Given the description of an element on the screen output the (x, y) to click on. 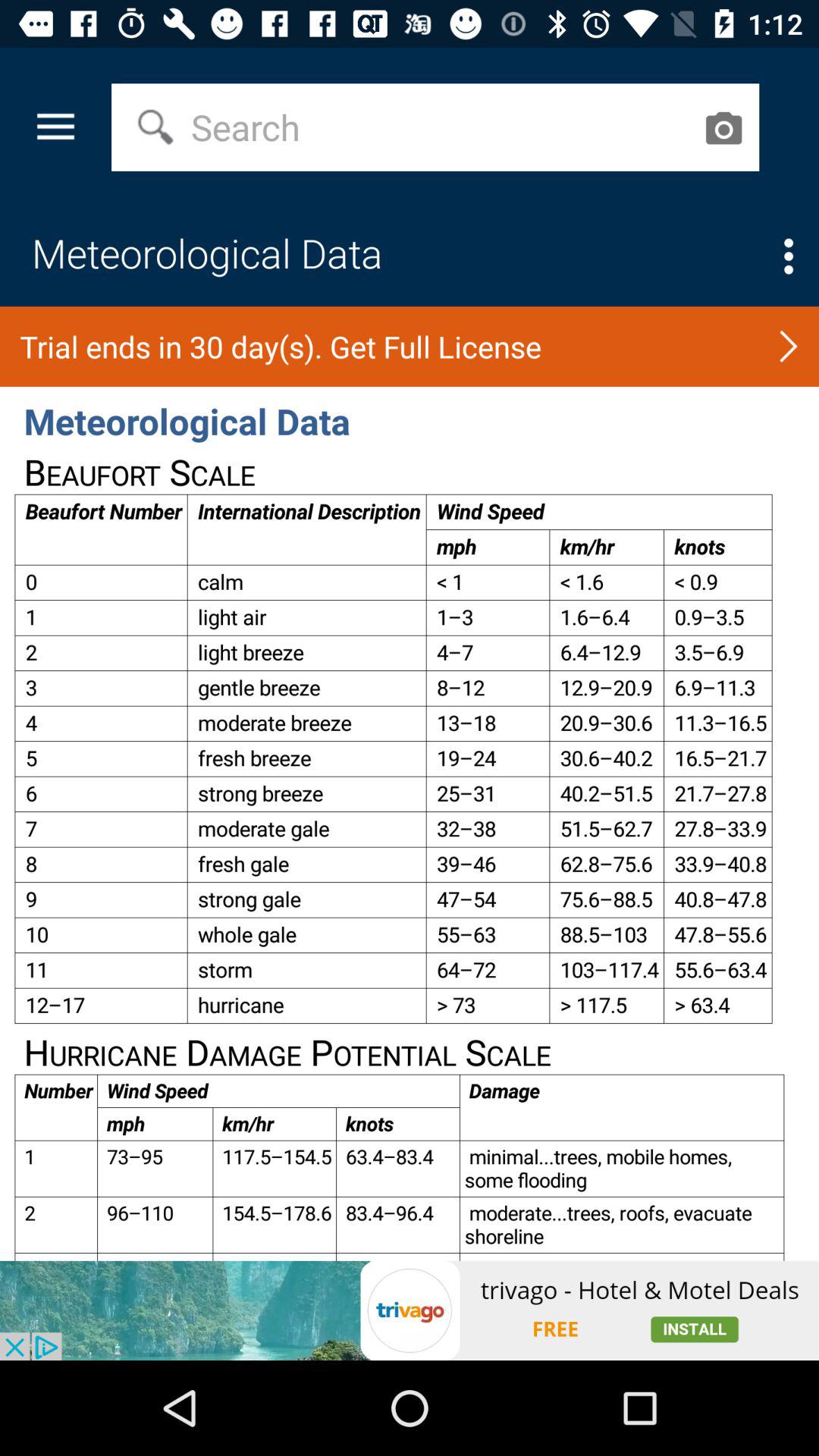
opens a advertisement (409, 1310)
